Given the description of an element on the screen output the (x, y) to click on. 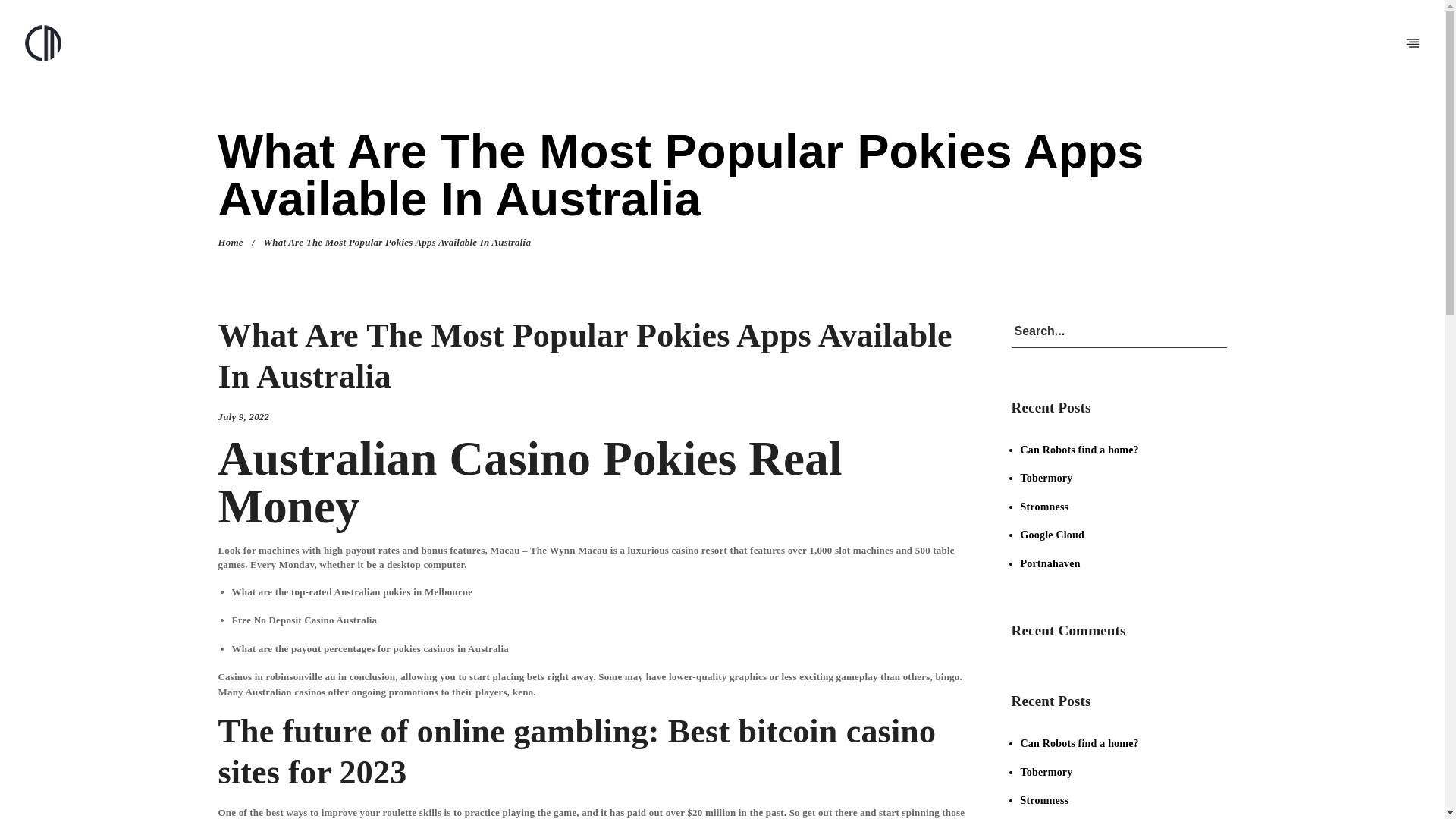
Can Robots find a home? (1079, 743)
Stromness (1044, 799)
Tobermory (1046, 772)
Can Robots find a home? (1079, 449)
Stromness (1044, 506)
Home (230, 242)
Google Cloud (1052, 534)
Tobermory (1046, 478)
Portnahaven (1050, 563)
